Given the description of an element on the screen output the (x, y) to click on. 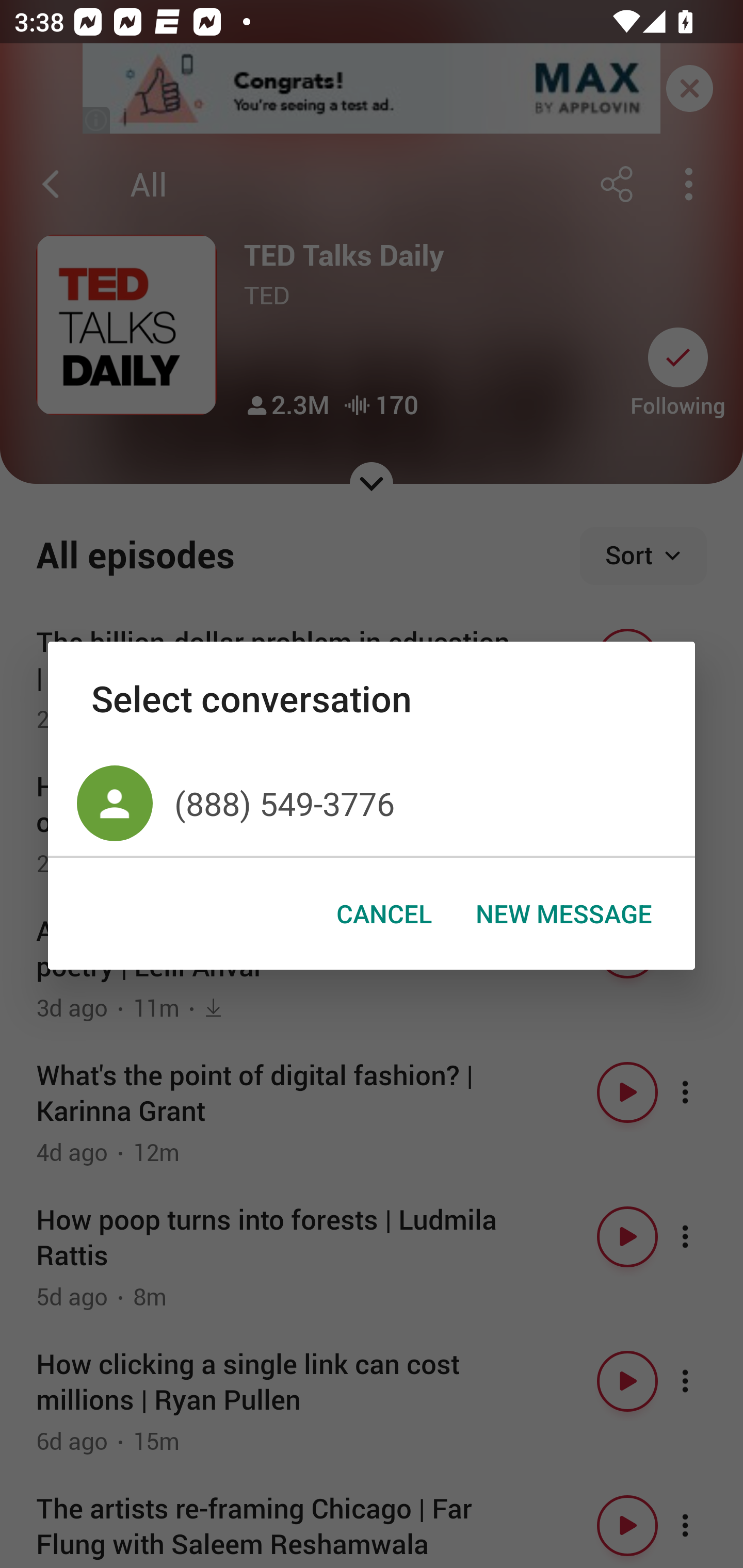
CANCEL (384, 913)
NEW MESSAGE (563, 913)
